Given the description of an element on the screen output the (x, y) to click on. 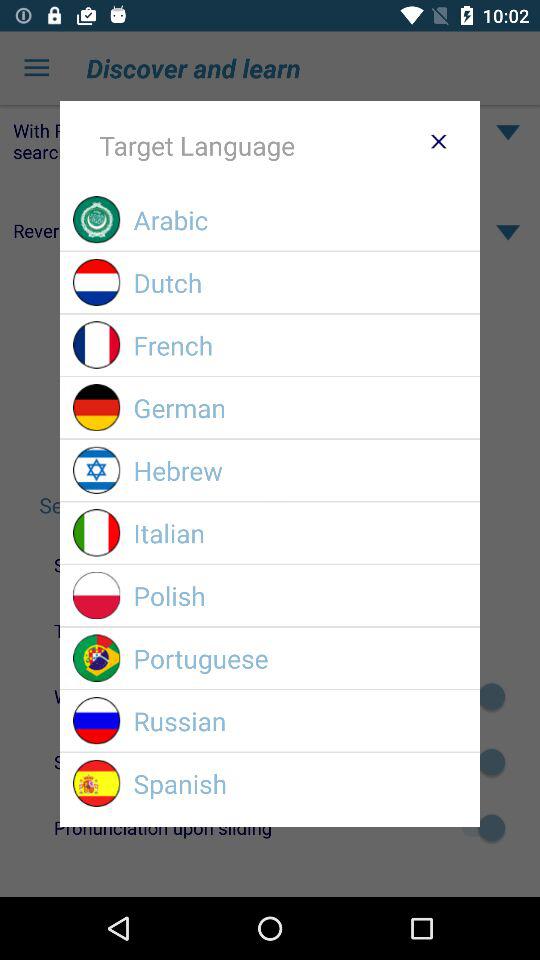
click the item above portuguese item (300, 595)
